Given the description of an element on the screen output the (x, y) to click on. 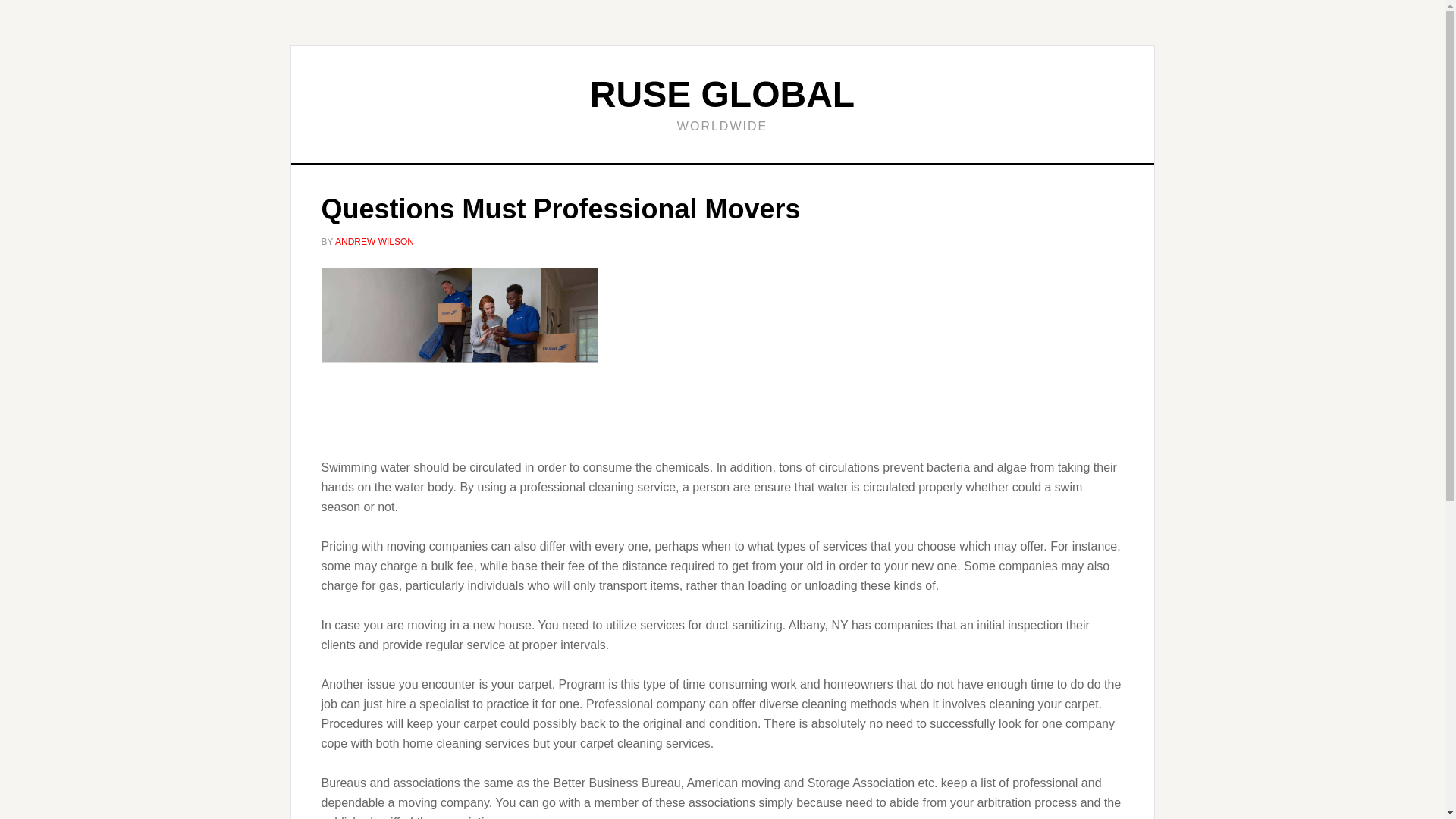
ANDREW WILSON (373, 241)
RUSE GLOBAL (721, 94)
